Given the description of an element on the screen output the (x, y) to click on. 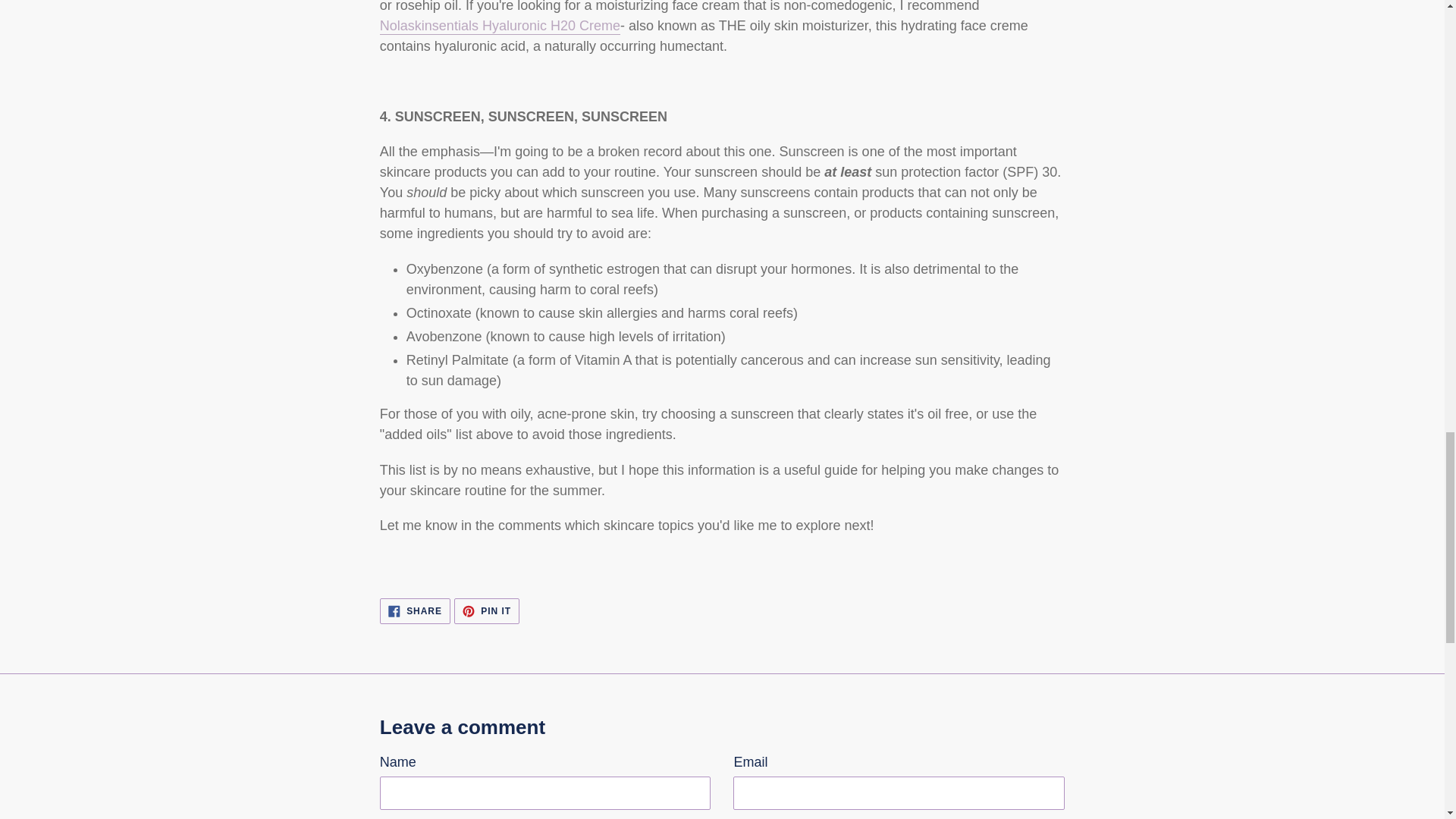
Nolaskinsentials Hyaluronic H20 Creme (500, 26)
